Given the description of an element on the screen output the (x, y) to click on. 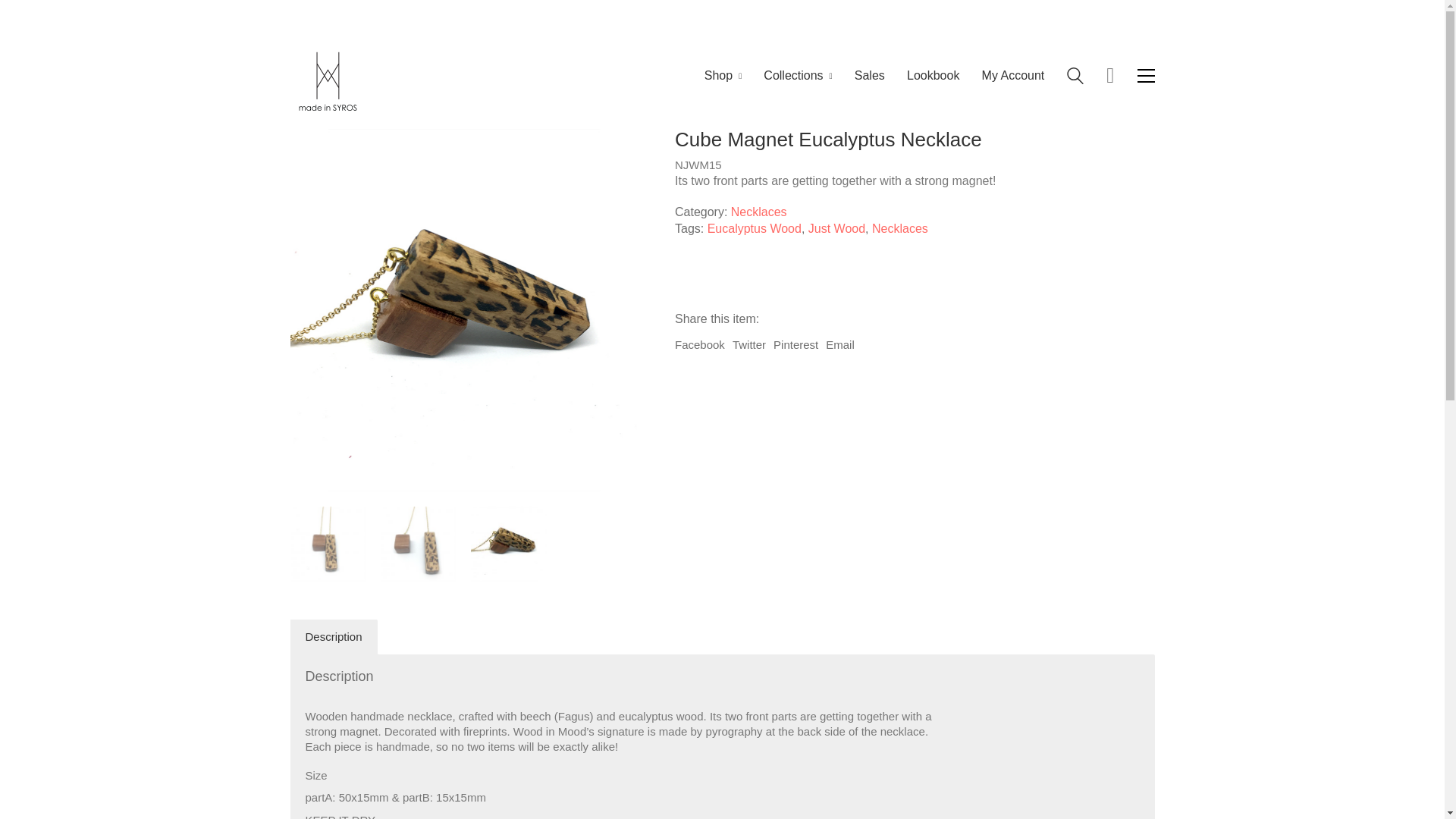
Shop (722, 75)
Lookbook (933, 75)
Collections (796, 75)
Sales (869, 75)
My Account (1013, 75)
